Given the description of an element on the screen output the (x, y) to click on. 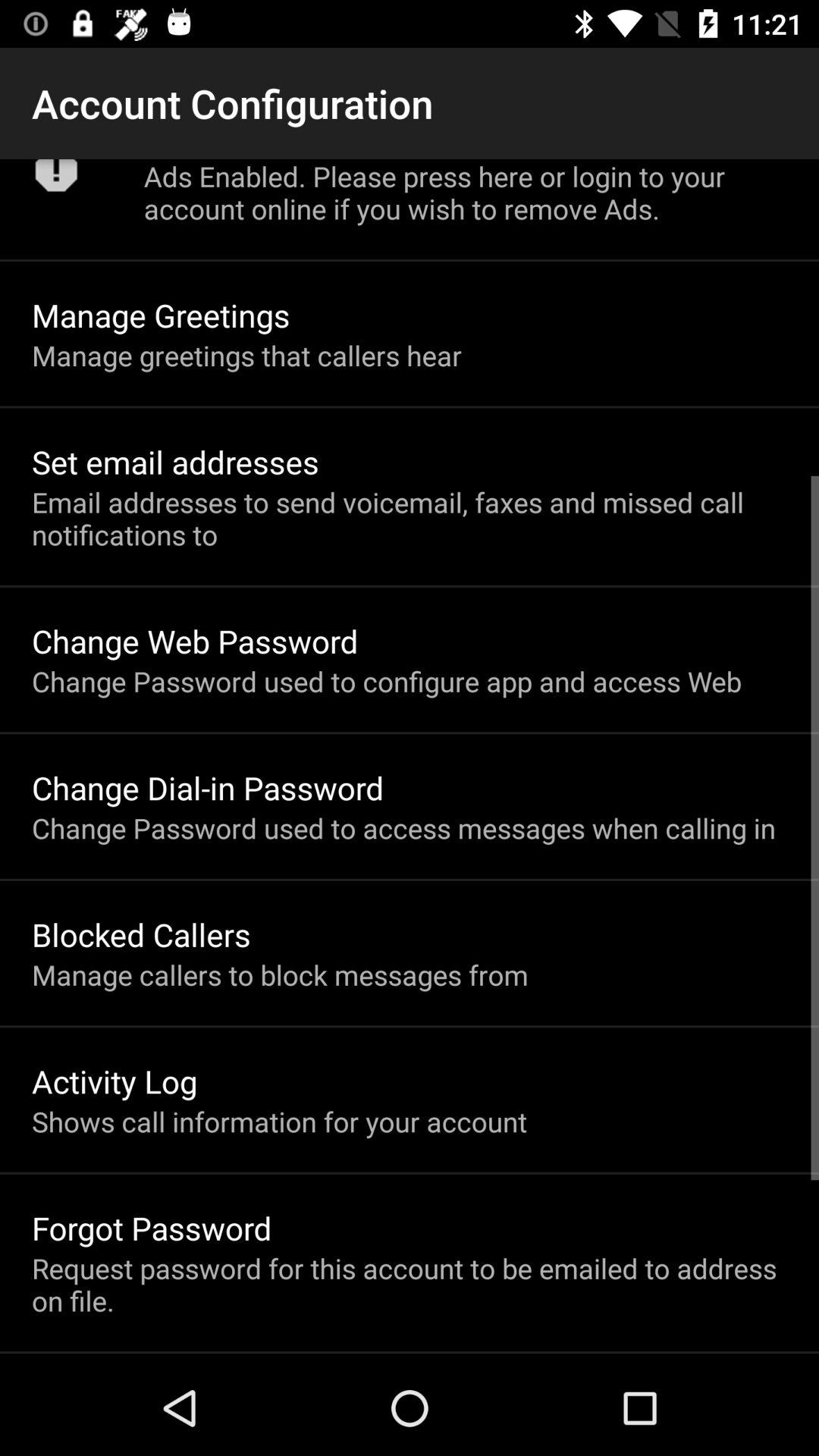
turn off the icon below the manage callers to (114, 1080)
